Given the description of an element on the screen output the (x, y) to click on. 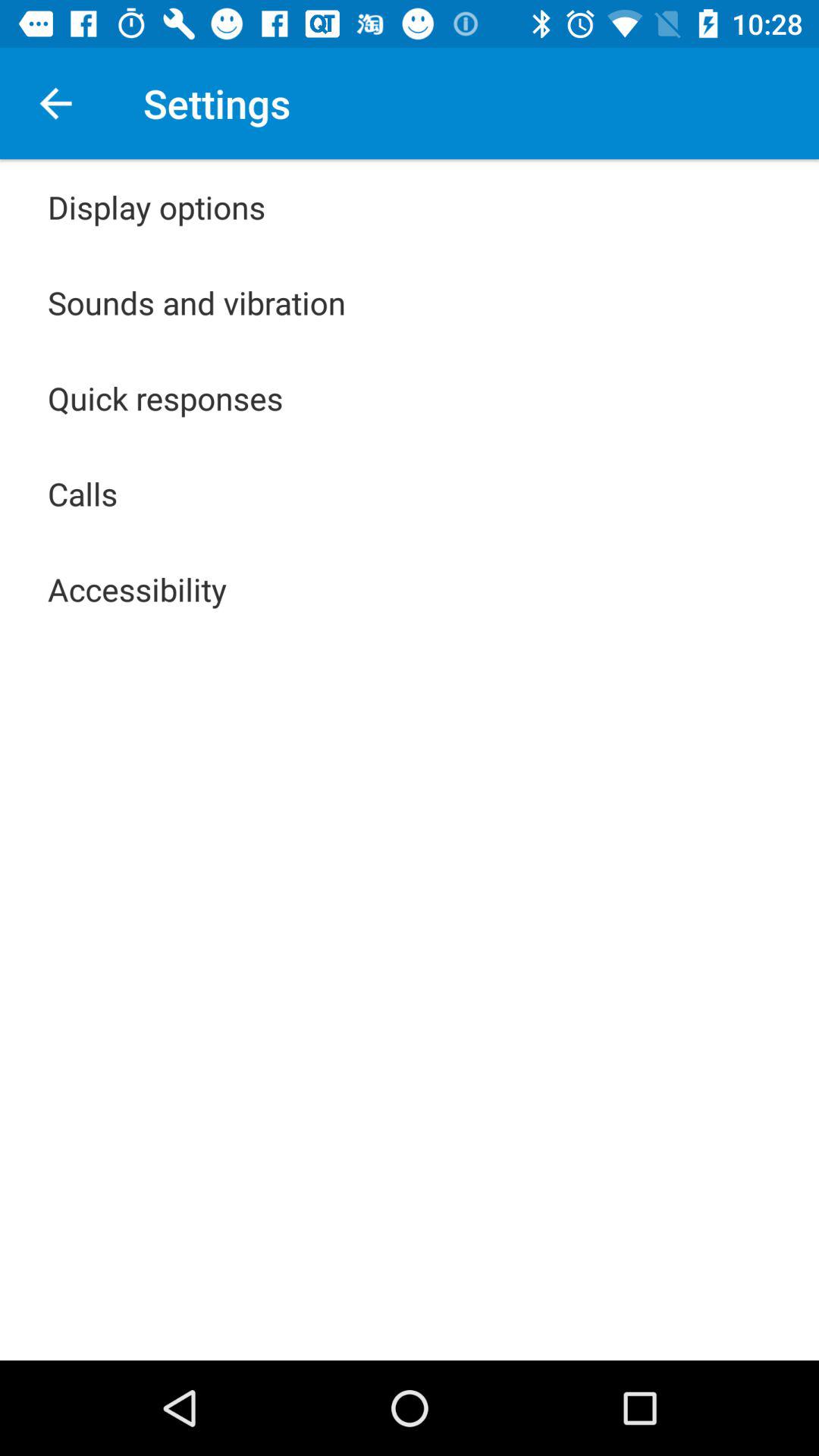
turn off icon above calls app (165, 397)
